Given the description of an element on the screen output the (x, y) to click on. 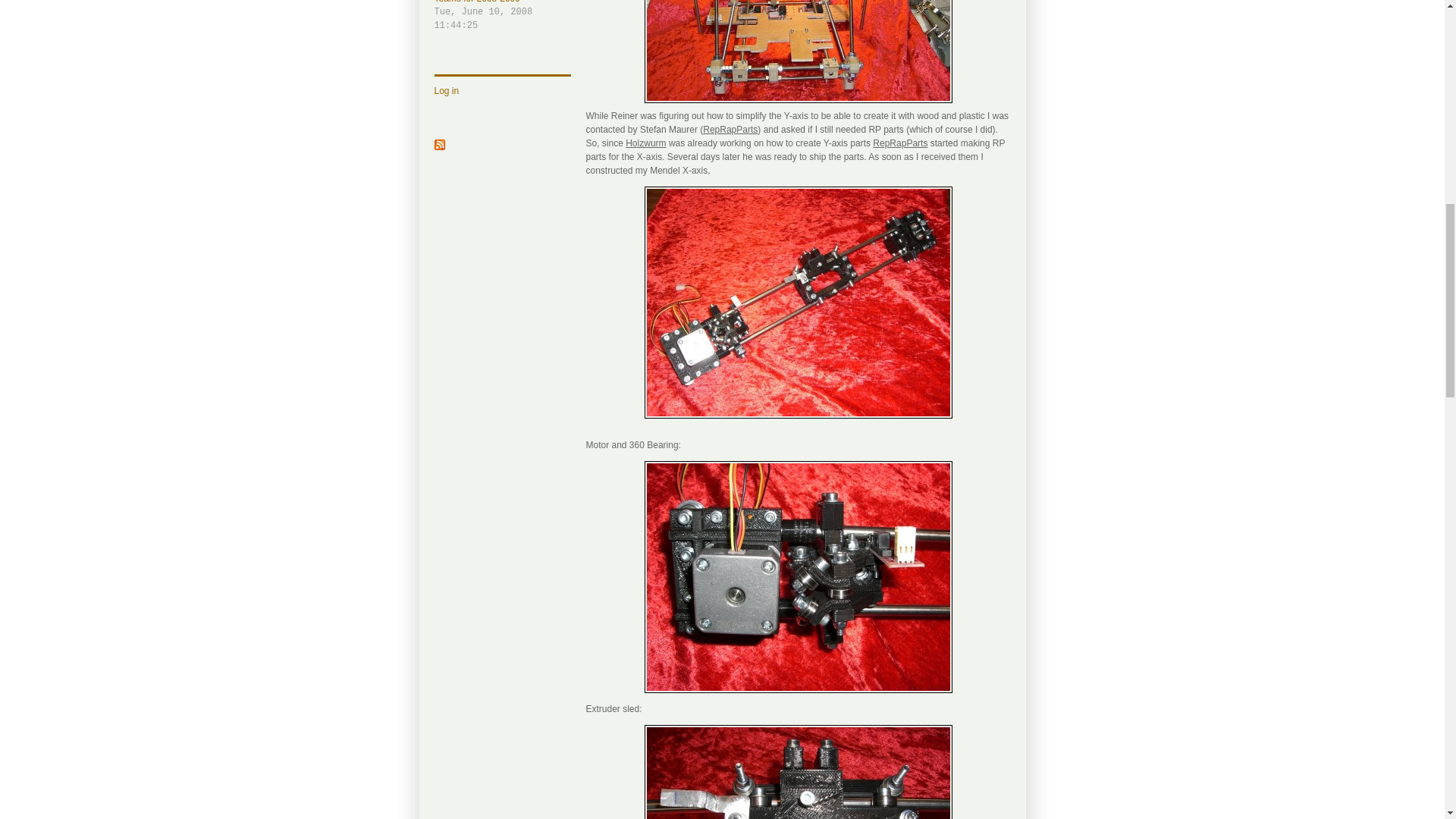
Log in (445, 90)
RSS 2.0 (438, 146)
Holzwurm (645, 143)
RepRapParts (730, 129)
RepRapParts (899, 143)
